Given the description of an element on the screen output the (x, y) to click on. 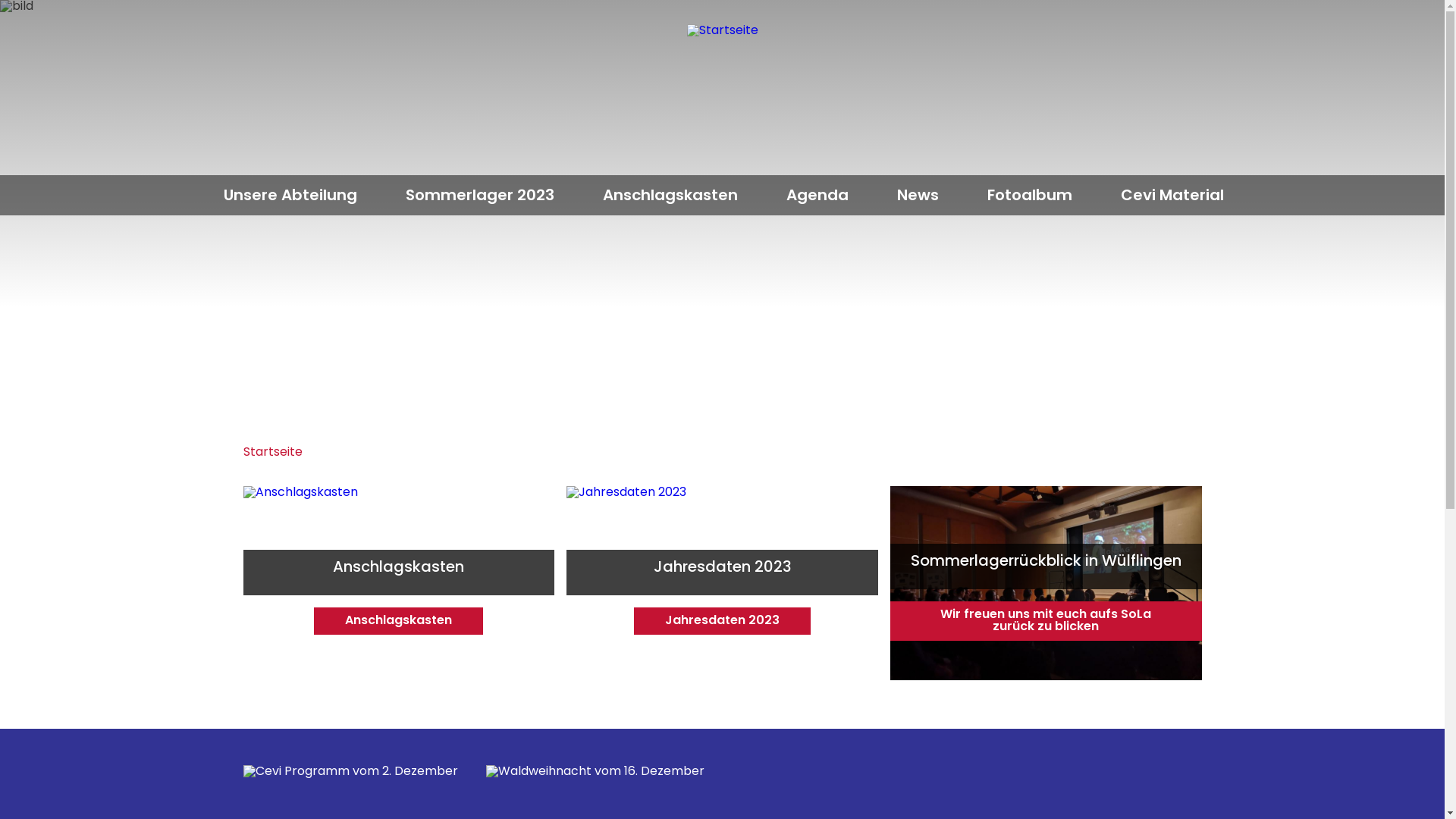
Anschlagskasten Element type: text (669, 194)
Cevi Material Element type: text (1171, 194)
Unsere Abteilung Element type: text (290, 194)
Anschlagskasten Element type: hover (398, 583)
Anschlagskasten
Anschlagskasten Element type: text (398, 583)
Startseite Element type: text (271, 453)
Fotoalbum Element type: text (1029, 194)
News Element type: text (917, 194)
bild Element type: hover (722, 204)
Startseite Element type: hover (722, 96)
Jahresdaten 2023
Jahresdaten 2023 Element type: text (722, 583)
Direkt zum Inhalt Element type: text (0, 0)
Agenda Element type: text (817, 194)
Jahresdaten 2023 Element type: hover (722, 583)
Sommerlager 2023 Element type: text (479, 194)
